Given the description of an element on the screen output the (x, y) to click on. 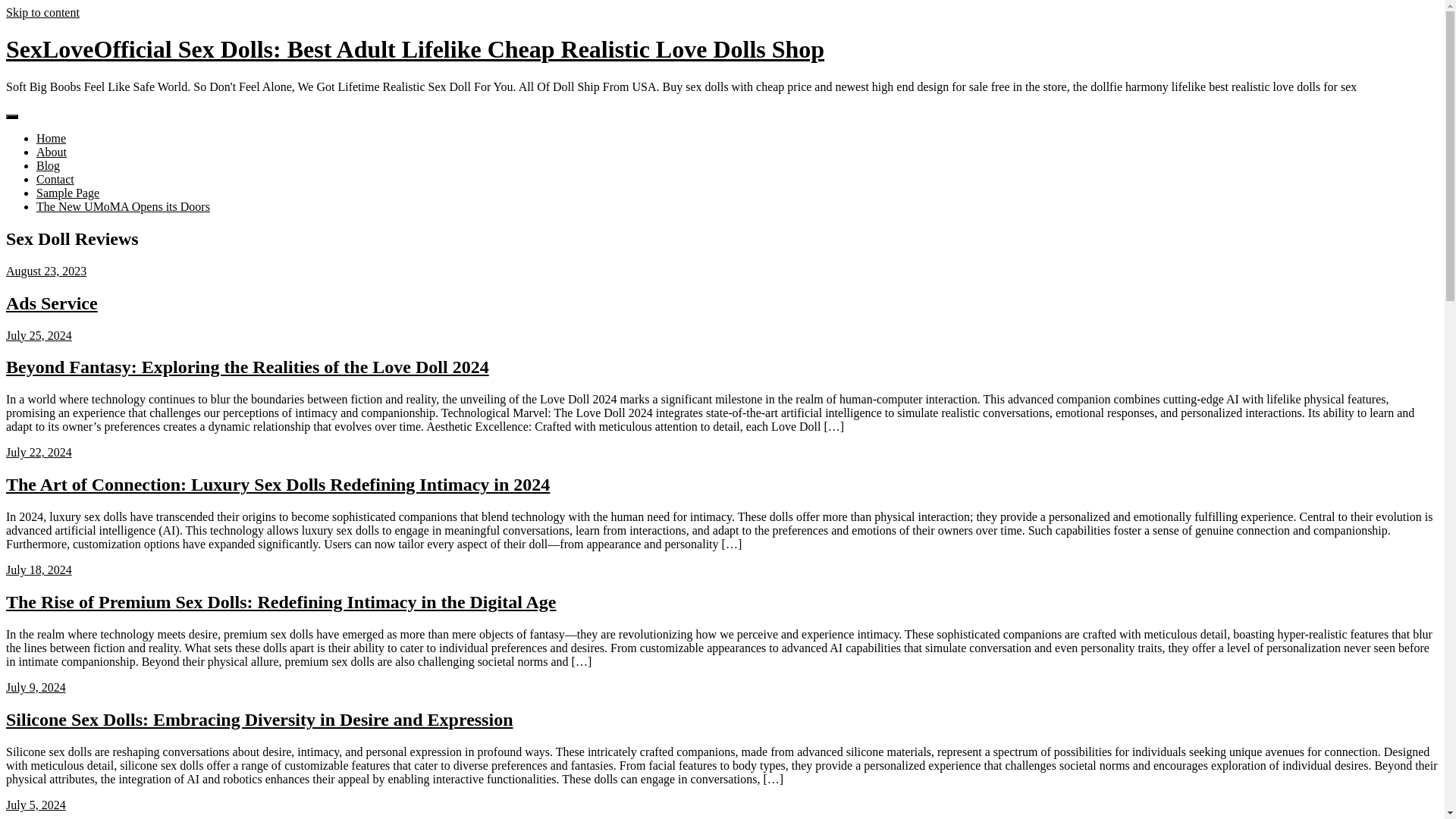
Blog (47, 164)
July 22, 2024 (38, 451)
August 23, 2023 (45, 270)
July 9, 2024 (35, 686)
Ads Service (51, 302)
Contact (55, 178)
The New UMoMA Opens its Doors (122, 205)
July 5, 2024 (35, 804)
Home (50, 137)
Sample Page (67, 192)
